Given the description of an element on the screen output the (x, y) to click on. 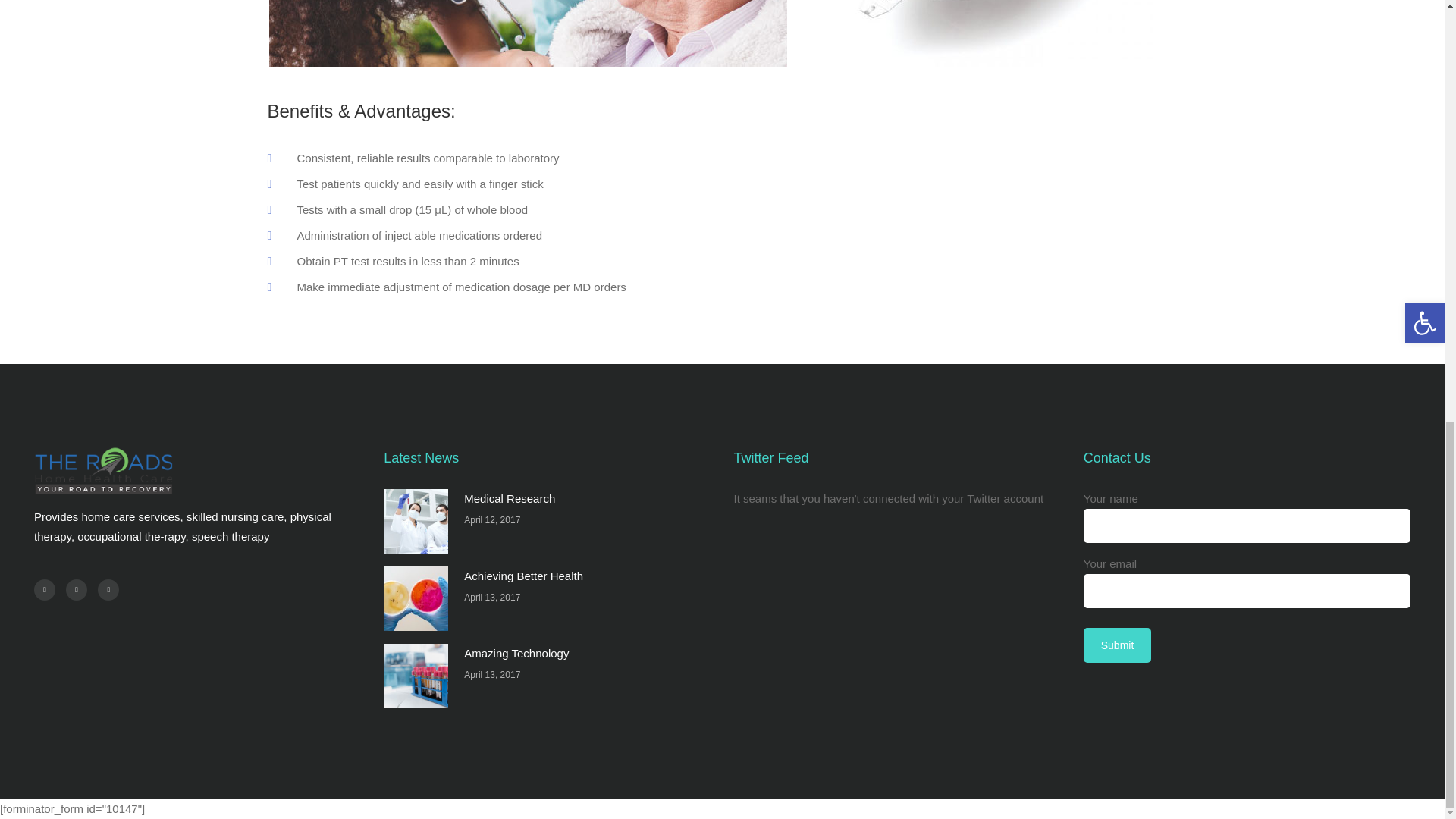
Amazing Technology (416, 675)
Medical Research (509, 498)
Achieving Better Health (416, 598)
Medical Research (416, 520)
Amazing Technology (516, 653)
Achieving Better Health (523, 575)
Submit (1117, 645)
